Given the description of an element on the screen output the (x, y) to click on. 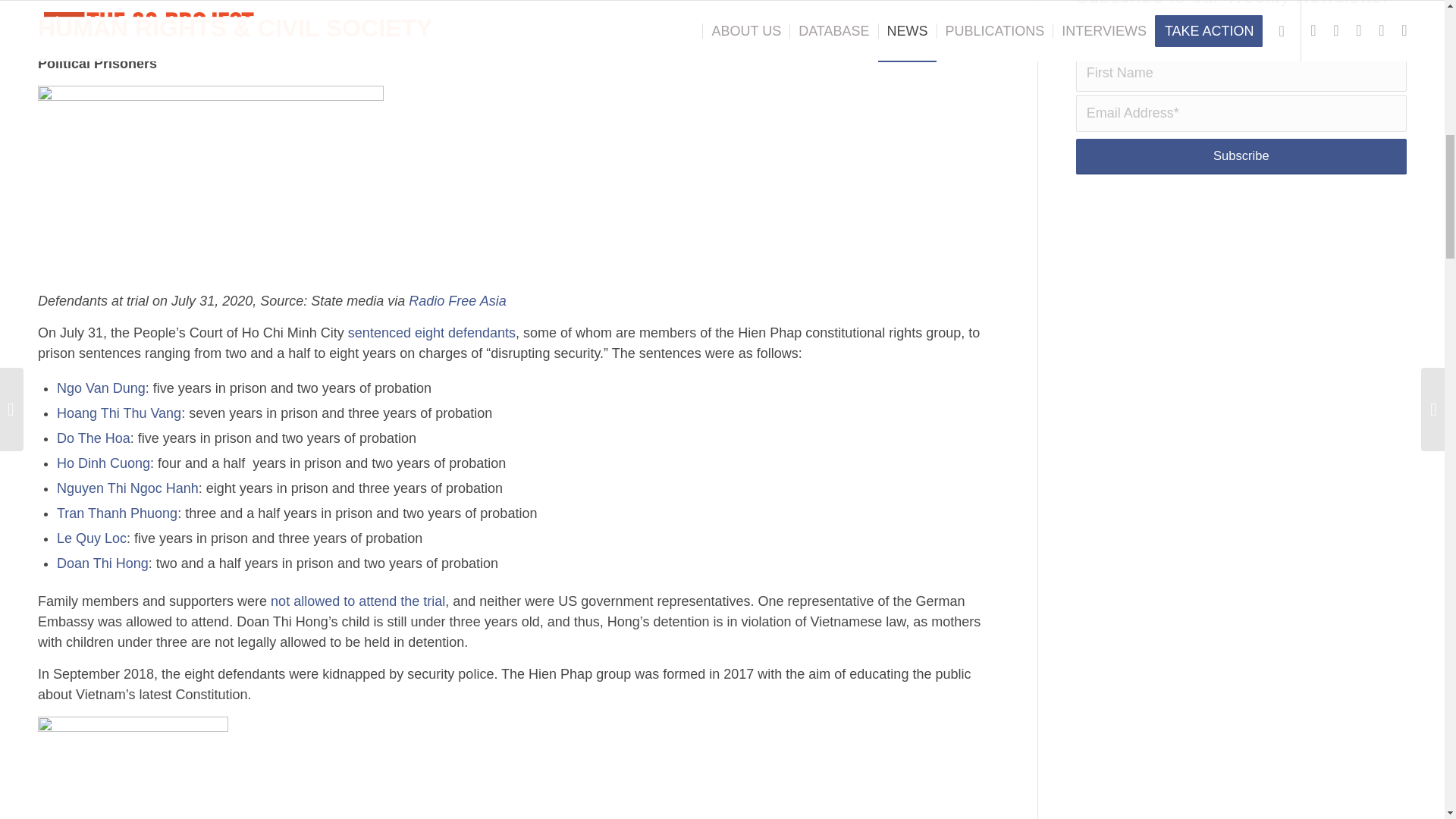
Subscribe (1240, 156)
Le Quy Loc (91, 538)
not allowed to attend the trial (357, 601)
Radio Free Asia (457, 300)
Doan Thi Hong (102, 563)
Tran Thanh Phuong (116, 513)
Ho Dinh Cuong (102, 462)
Ngo Van Dung (100, 387)
Do The Hoa (93, 437)
Hoang Thi Thu Vang (118, 412)
